Given the description of an element on the screen output the (x, y) to click on. 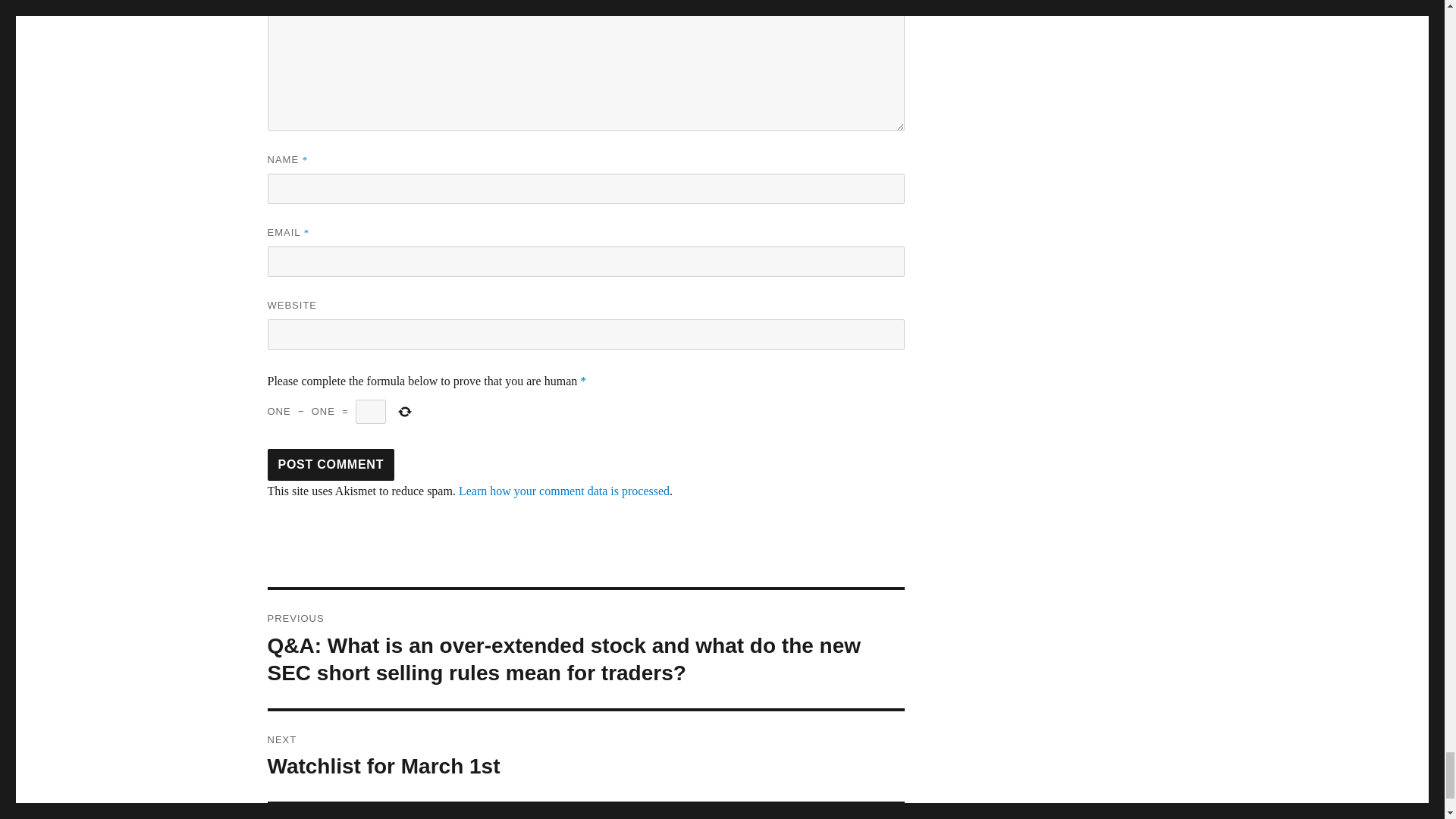
Post Comment (330, 464)
